Given the description of an element on the screen output the (x, y) to click on. 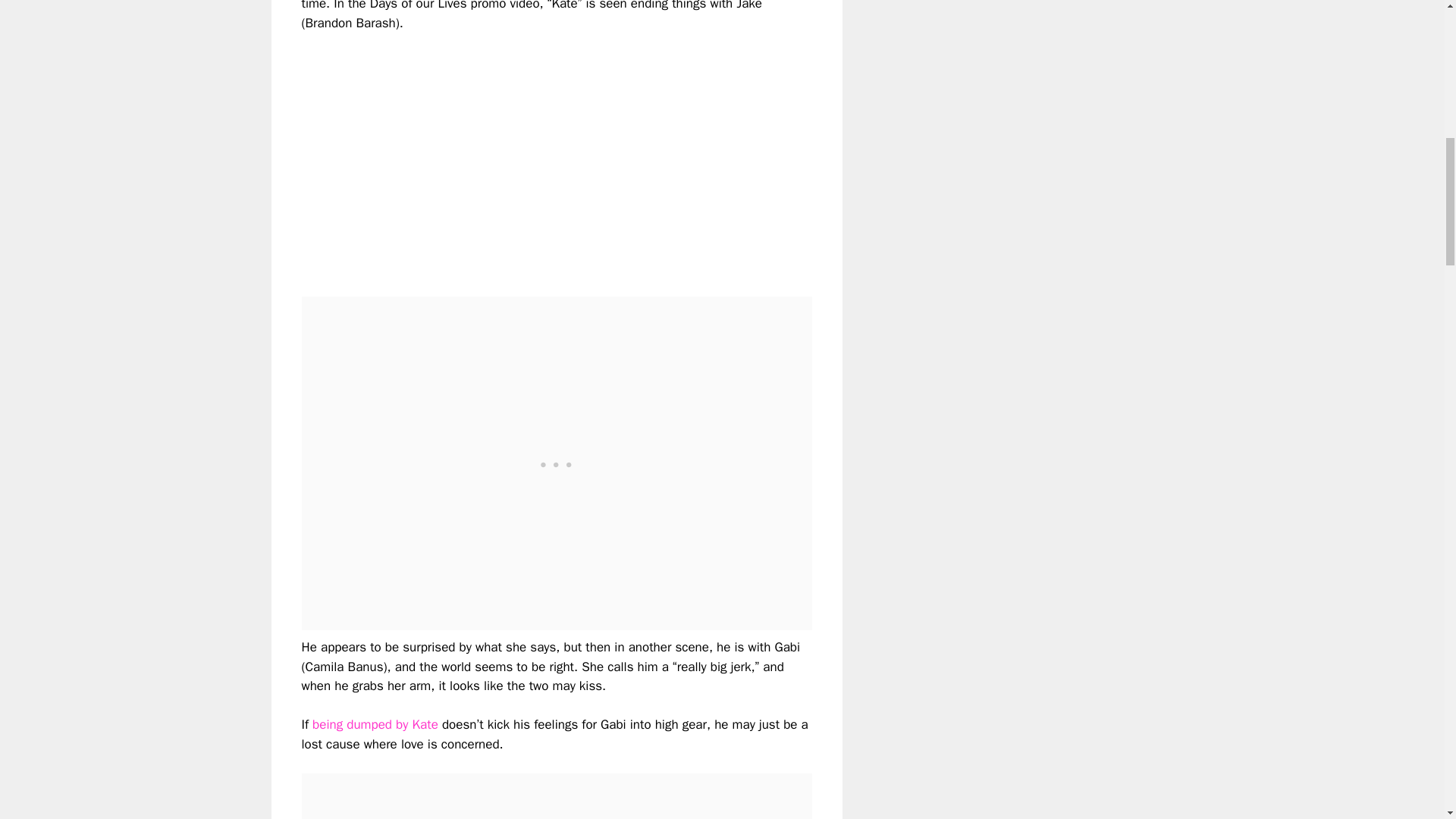
YouTube video player (513, 151)
being dumped by Kate (375, 724)
